Given the description of an element on the screen output the (x, y) to click on. 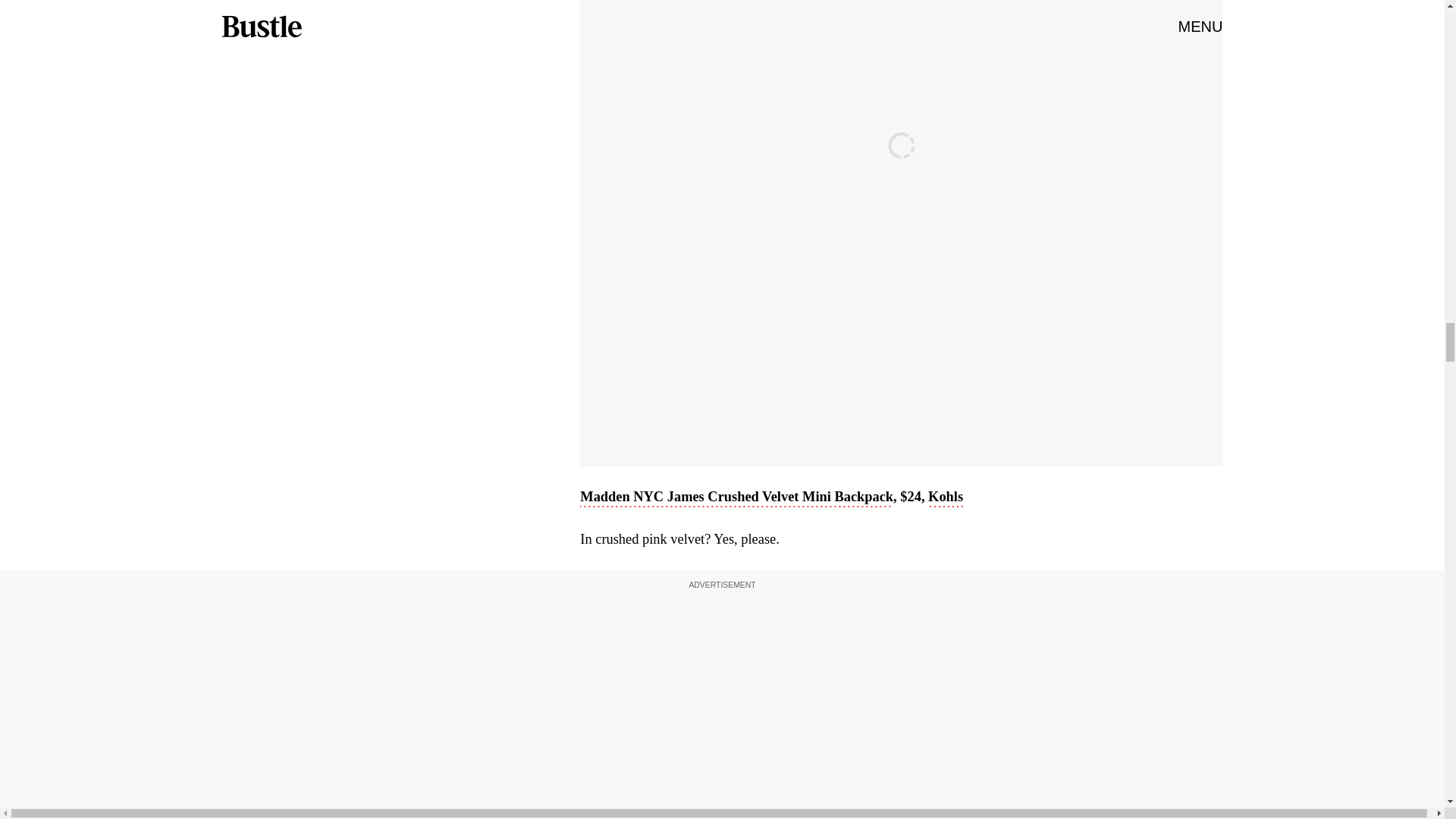
Kohls (945, 497)
Madden NYC James Crushed Velvet Mini Backpack (736, 497)
